Given the description of an element on the screen output the (x, y) to click on. 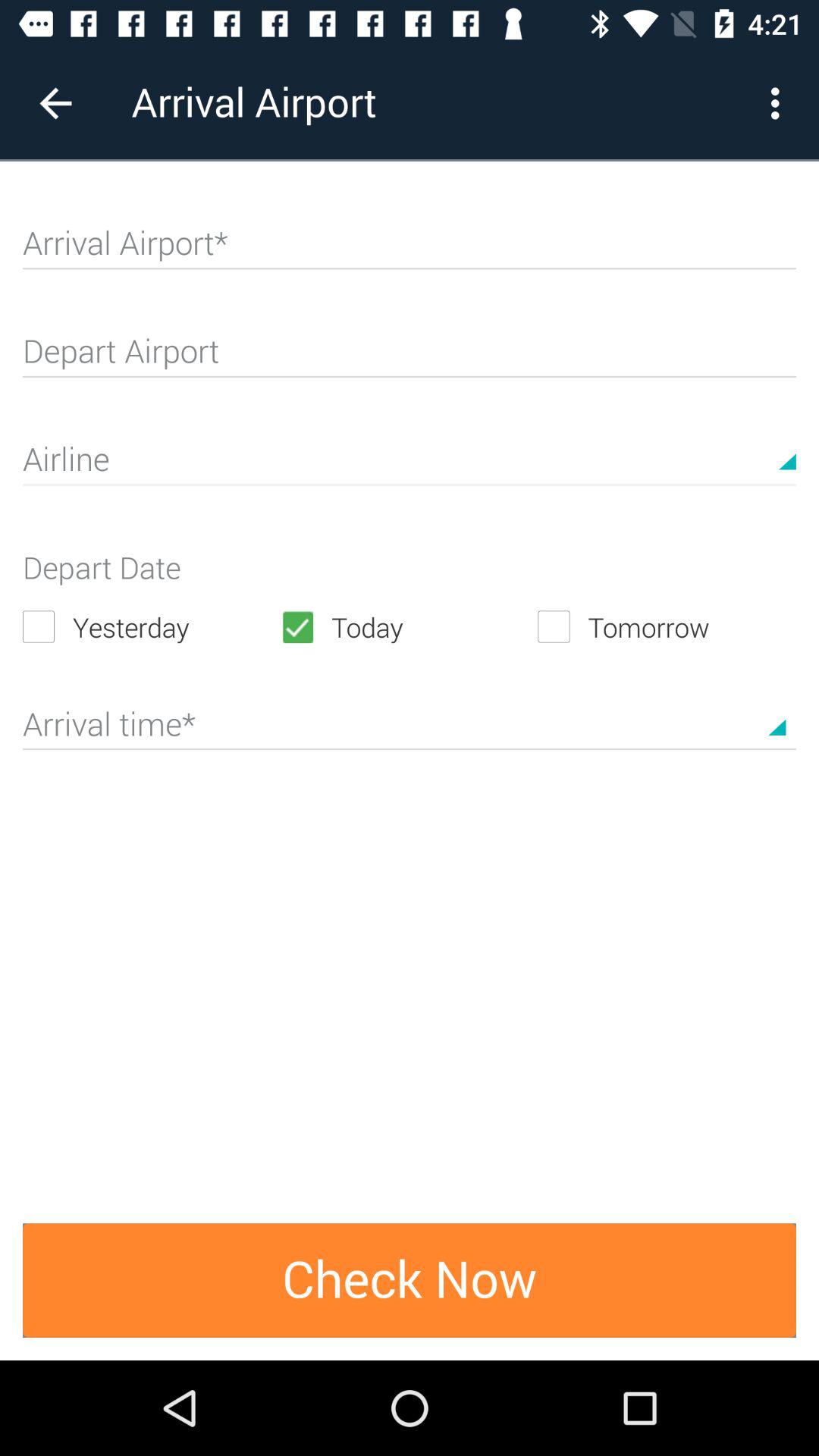
swipe to today icon (409, 626)
